Given the description of an element on the screen output the (x, y) to click on. 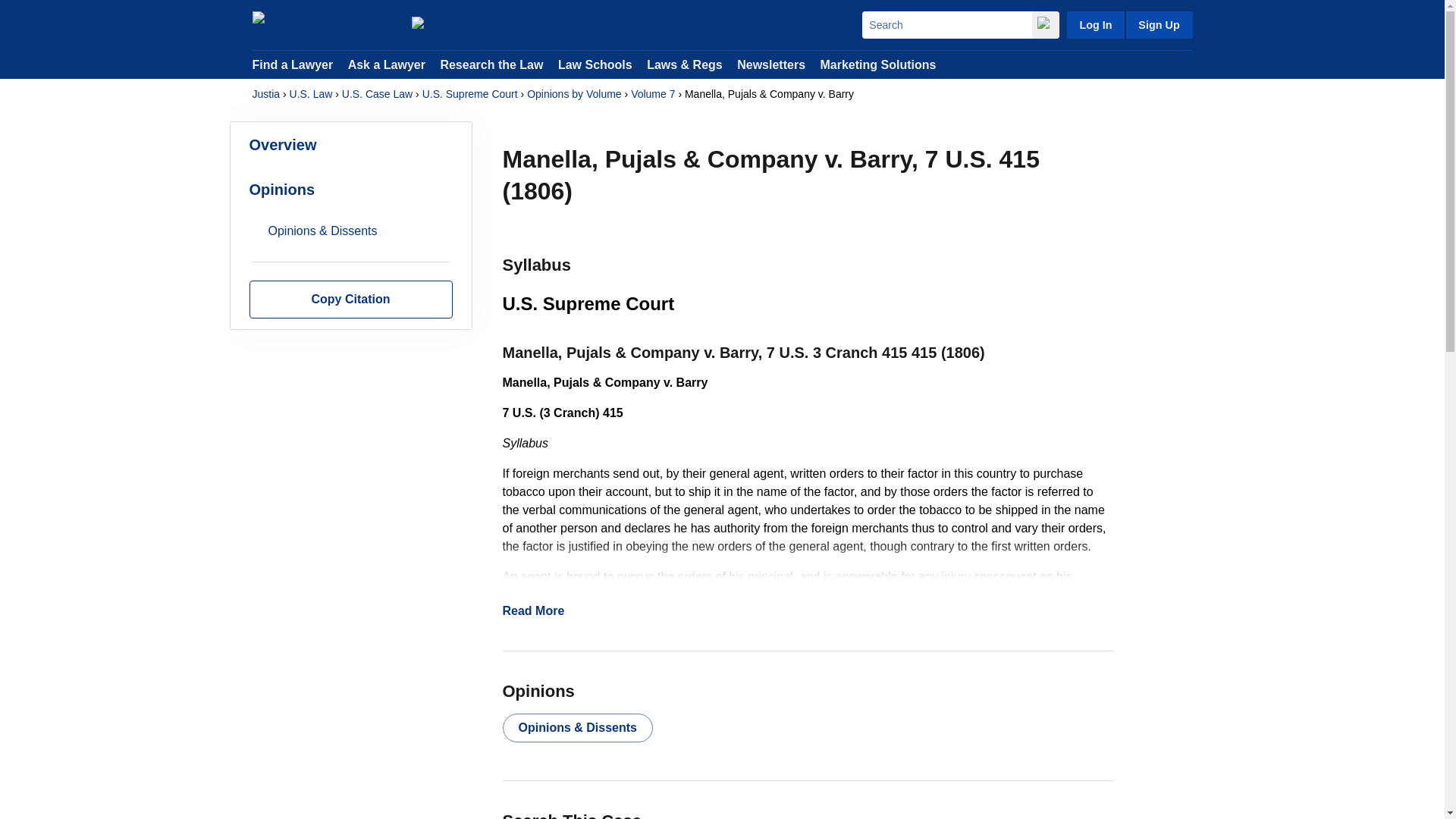
Law Schools (594, 64)
Sign Up (1158, 24)
U.S. Case Law (377, 93)
Opinions by Volume (574, 93)
Marketing Solutions (877, 64)
Ask a Lawyer (388, 64)
Justia (323, 24)
Justia (265, 93)
Research the Law (491, 64)
Mobile Navigation (571, 610)
Log In (1094, 24)
U.S. Law (311, 93)
Volume 7 (652, 93)
Find a Lawyer (292, 64)
U.S. Supreme Court (470, 93)
